Given the description of an element on the screen output the (x, y) to click on. 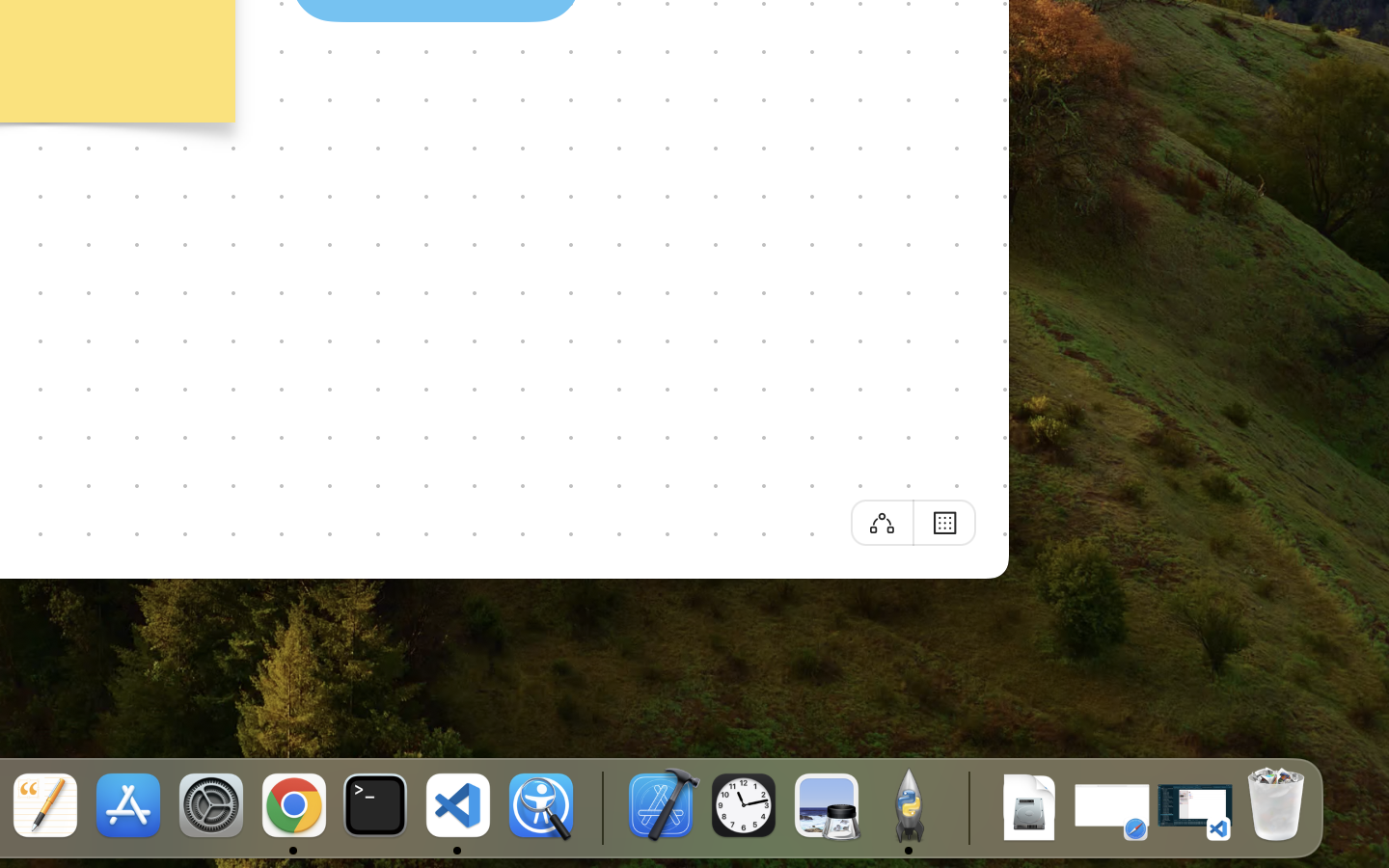
On Element type: AXButton (945, 521)
Off Element type: AXButton (881, 522)
